Given the description of an element on the screen output the (x, y) to click on. 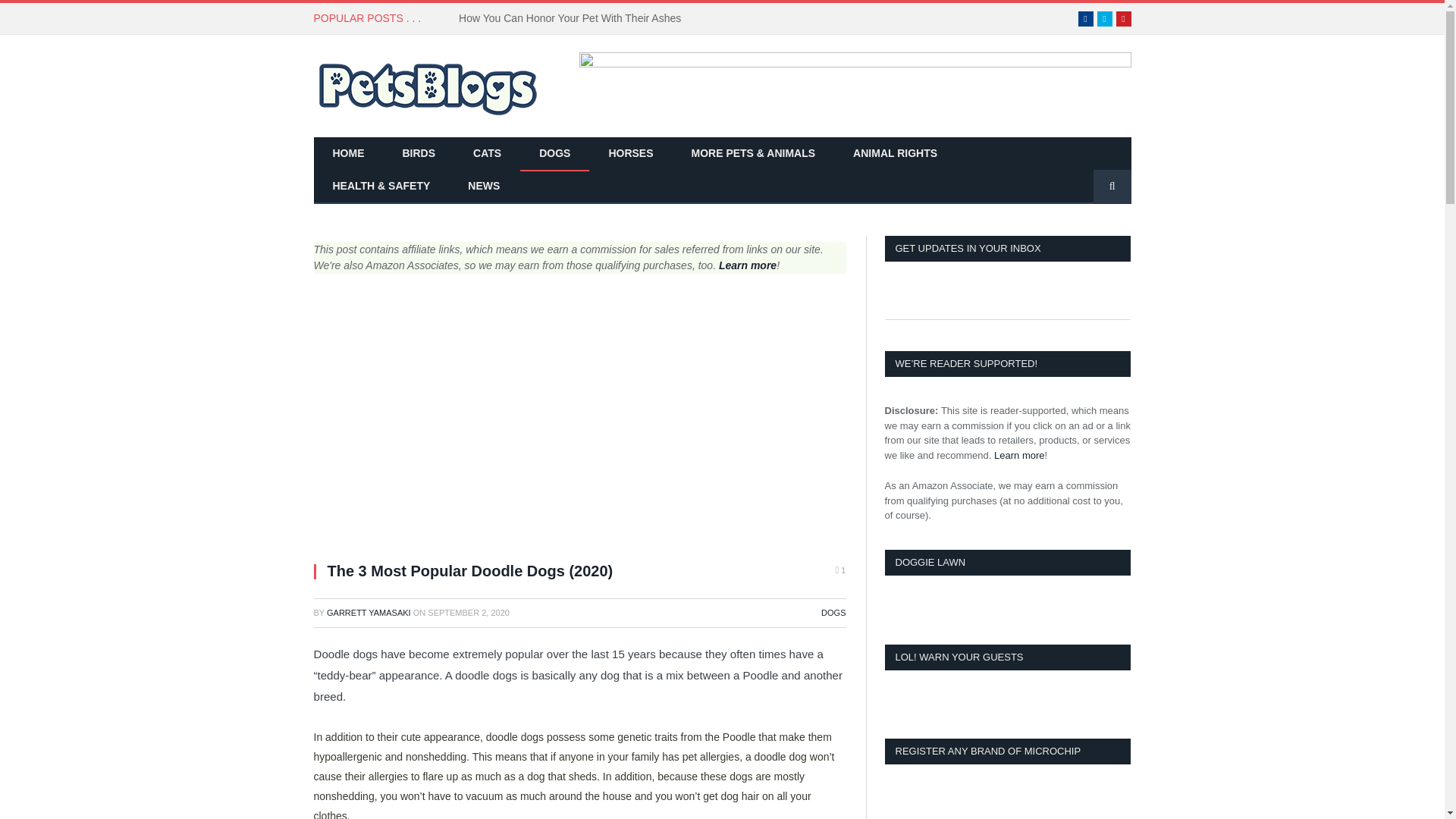
Facebook (1085, 18)
DOGS (554, 154)
Twitter (1104, 18)
How You Can Honor Your Pet With Their Ashes (573, 18)
CATS (486, 154)
How You Can Honor Your Pet With Their Ashes (573, 18)
Twitter (1104, 18)
Pinterest (1123, 18)
HORSES (630, 154)
ANIMAL RIGHTS (895, 154)
